Given the description of an element on the screen output the (x, y) to click on. 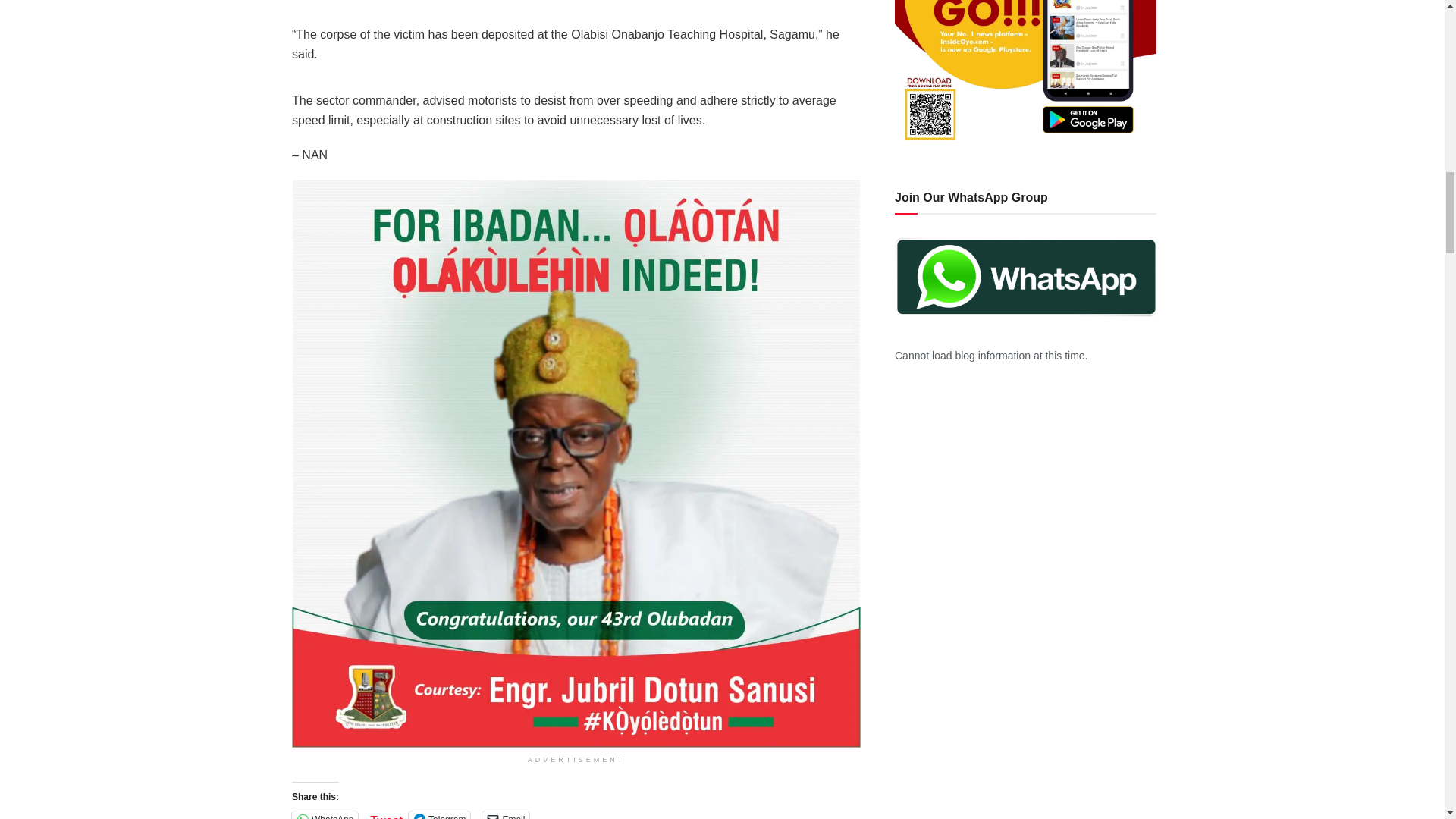
Click to share on Telegram (439, 815)
Click to share on WhatsApp (325, 815)
Click to email a link to a friend (505, 815)
